Given the description of an element on the screen output the (x, y) to click on. 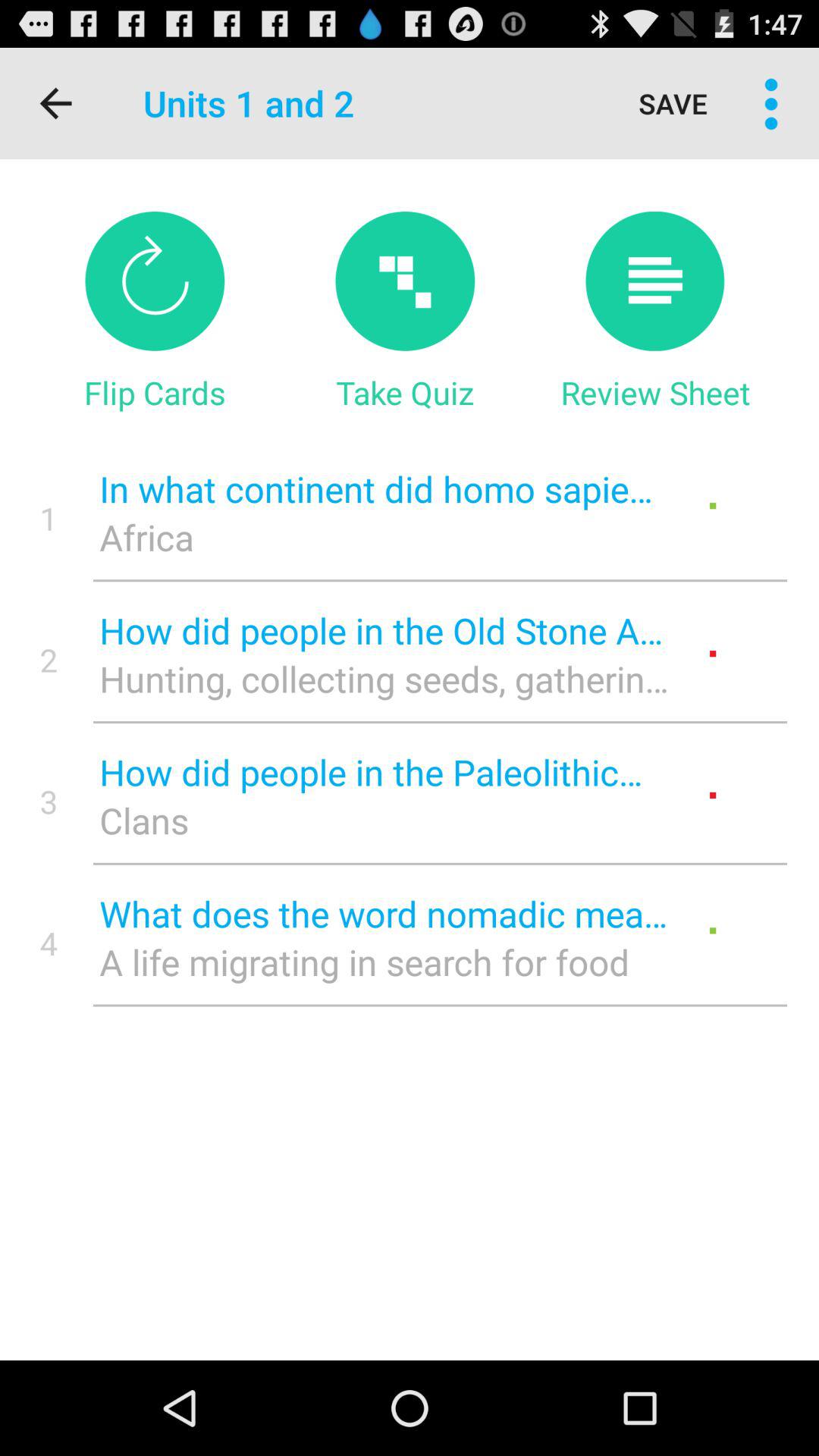
jump until the what does the (384, 913)
